Given the description of an element on the screen output the (x, y) to click on. 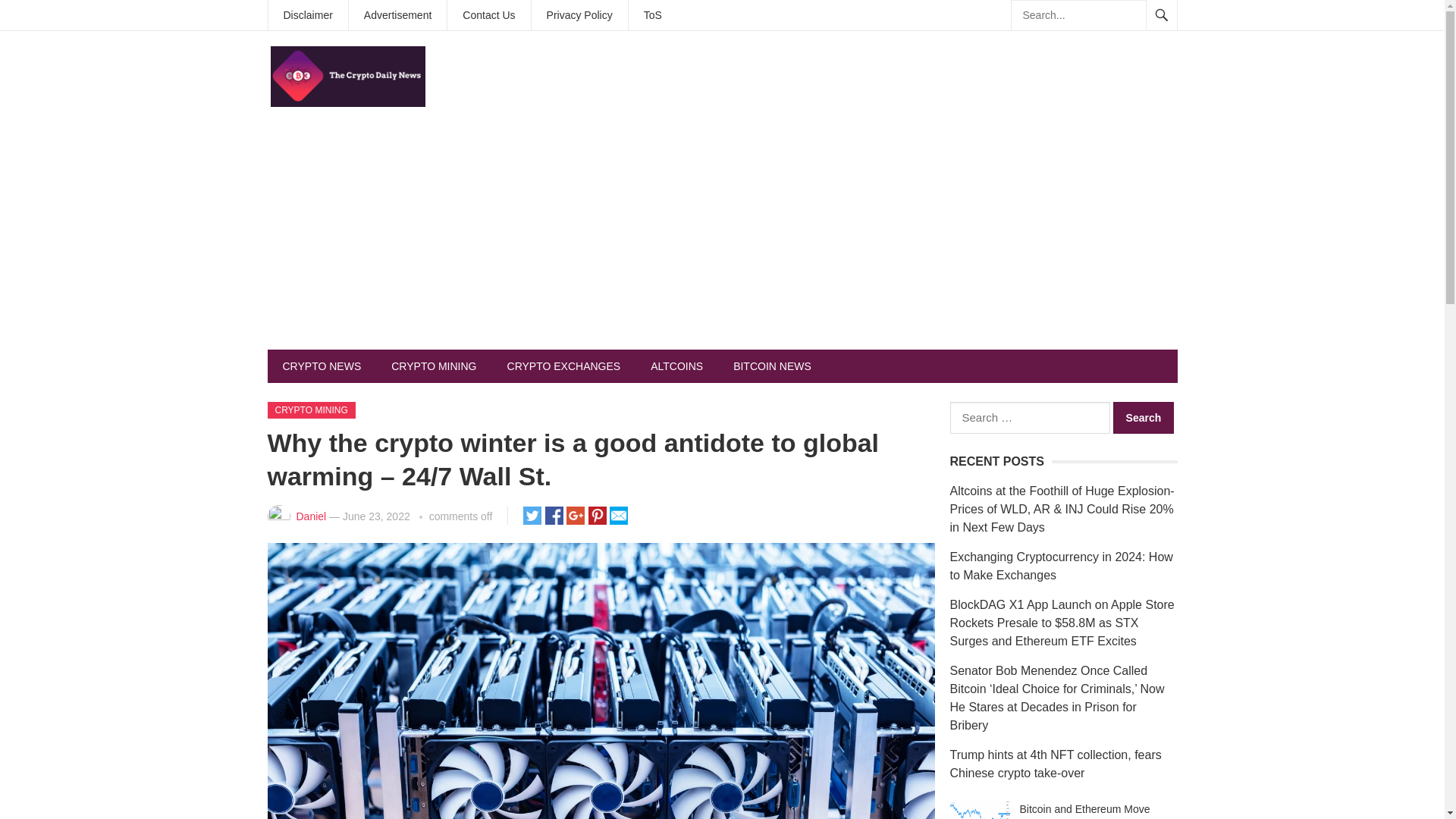
Search (1143, 418)
ToS (652, 15)
CRYPTO EXCHANGES (564, 366)
CRYPTO NEWS (320, 366)
Search (1143, 418)
Bitcoin and Ethereum Move Higher, Altcoins Gain Momentum (979, 810)
View all posts in Crypto Mining (310, 410)
Posts by Daniel (310, 516)
BITCOIN NEWS (772, 366)
ALTCOINS (675, 366)
Advertisement (397, 15)
CRYPTO MINING (433, 366)
CRYPTO MINING (310, 410)
Daniel (310, 516)
Privacy Policy (579, 15)
